Given the description of an element on the screen output the (x, y) to click on. 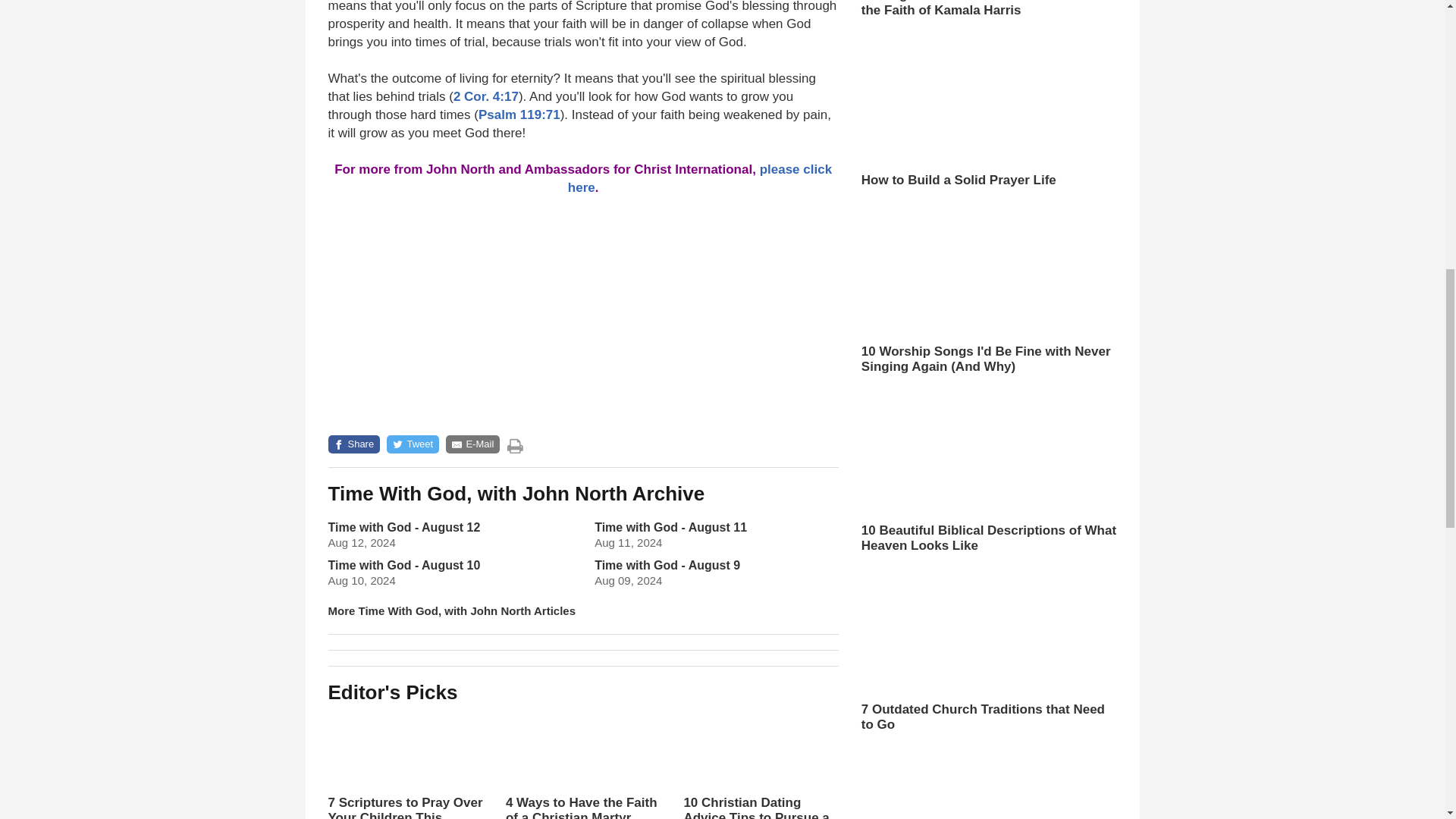
7 Scriptures to Pray Over Your Children This School Year (404, 764)
4 Ways to Have the Faith of a Christian Martyr (583, 764)
